Given the description of an element on the screen output the (x, y) to click on. 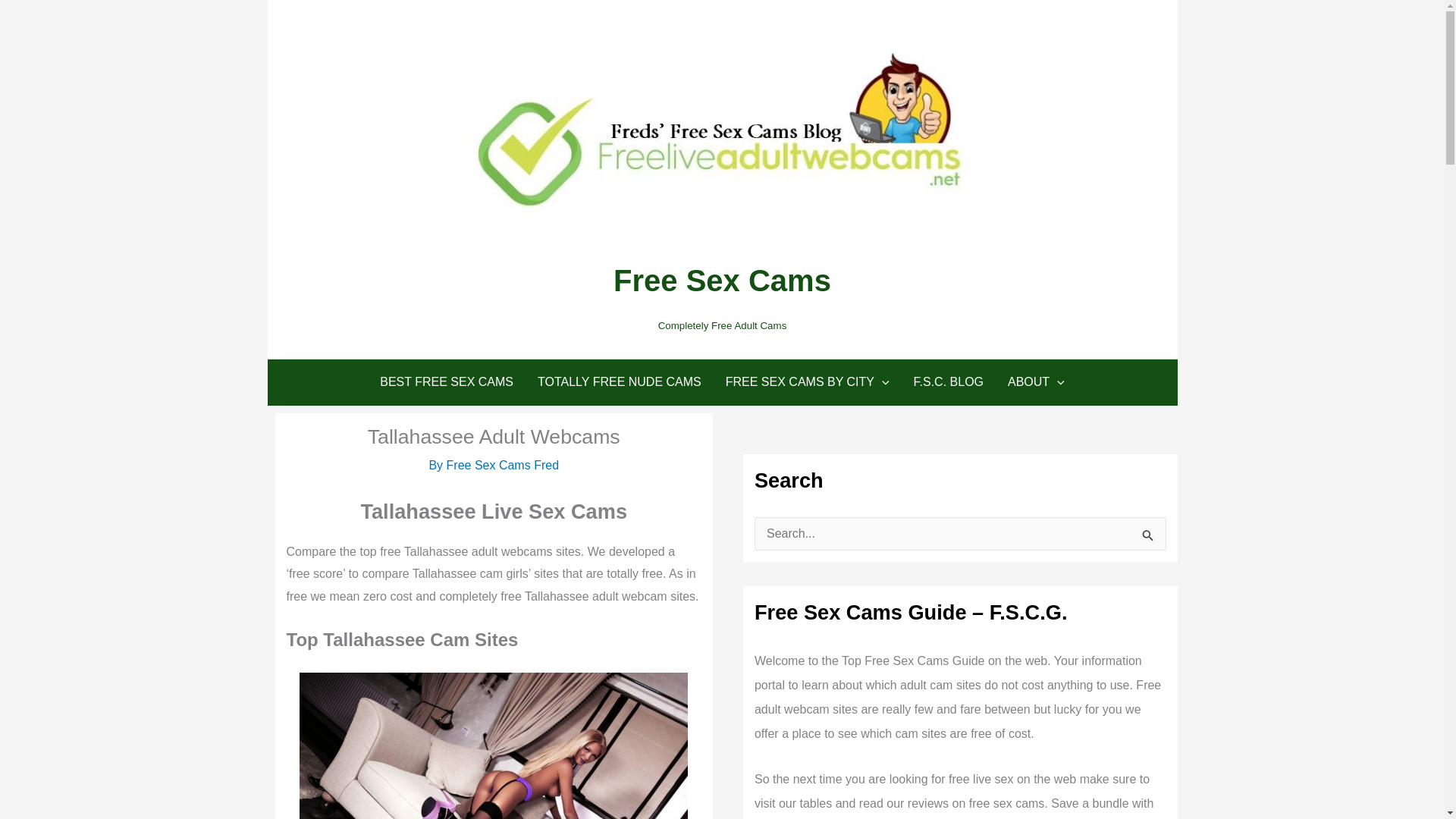
F.S.C. BLOG (948, 381)
View all posts by Free Sex Cams Fred (502, 464)
BEST FREE SEX CAMS (446, 381)
TOTALLY FREE NUDE CAMS (619, 381)
Free Sex Cams Fred (502, 464)
FREE SEX CAMS BY CITY (807, 381)
Free Sex Cams (721, 280)
ABOUT (1036, 381)
